Given the description of an element on the screen output the (x, y) to click on. 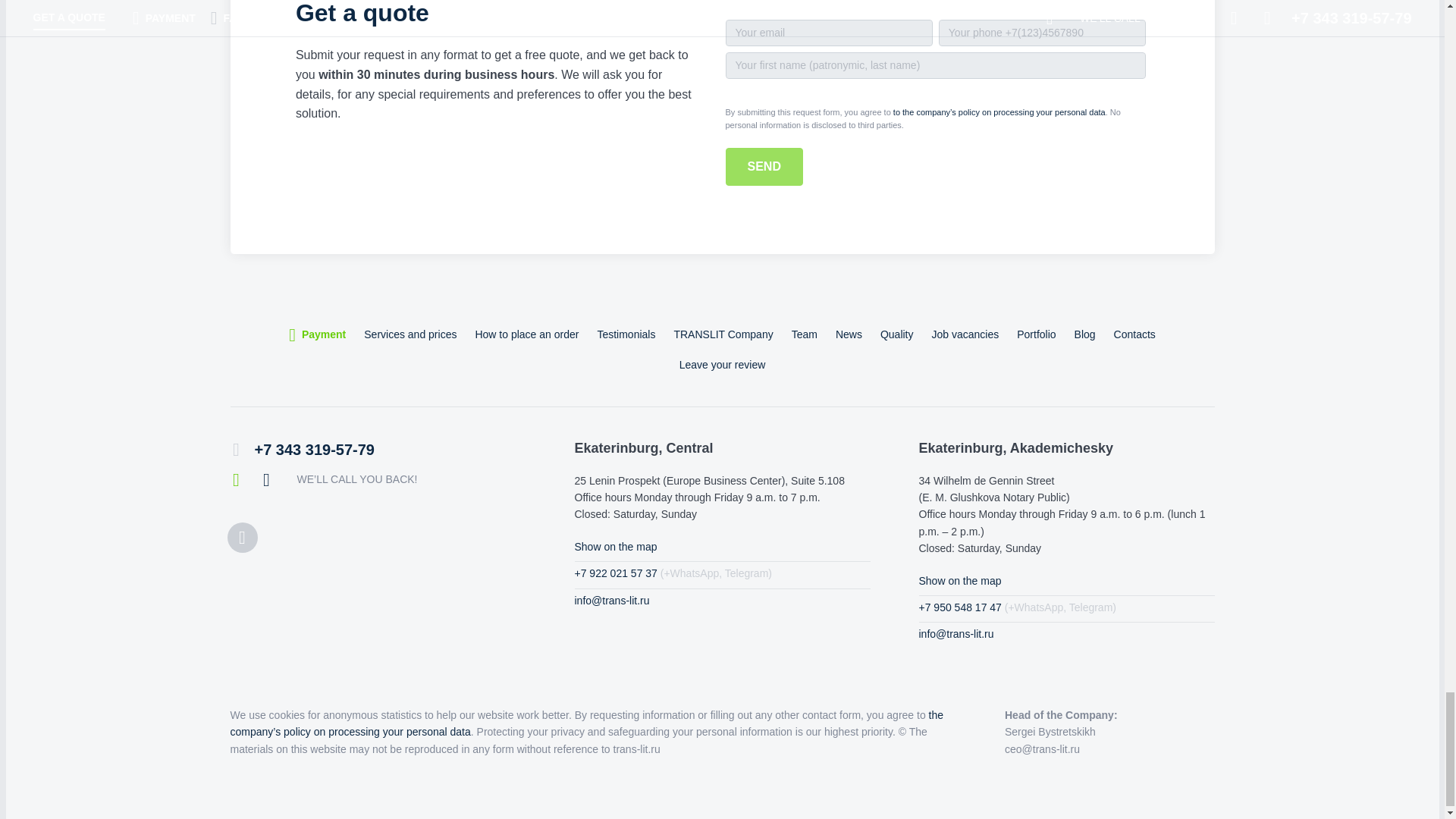
telegram (266, 480)
whatsapp (236, 480)
